Given the description of an element on the screen output the (x, y) to click on. 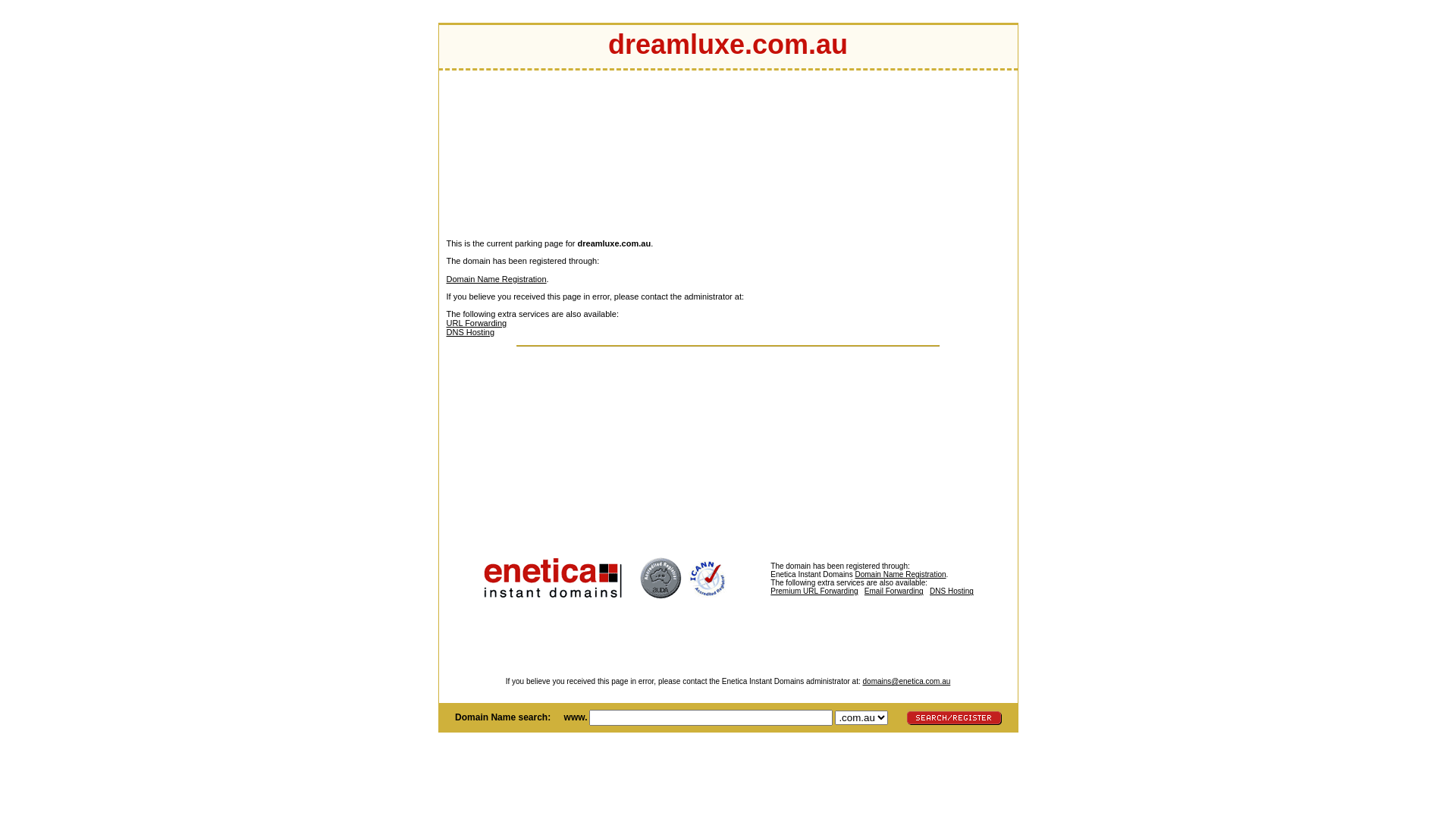
Email Forwarding Element type: text (893, 590)
Domain Name Registration Element type: text (495, 278)
Domain Name Registration Element type: text (899, 574)
URL Forwarding Element type: text (475, 322)
DNS Hosting Element type: text (469, 331)
Premium URL Forwarding Element type: text (850, 594)
domains@enetica.com.au Element type: text (906, 681)
DNS Hosting Element type: text (951, 590)
